Given the description of an element on the screen output the (x, y) to click on. 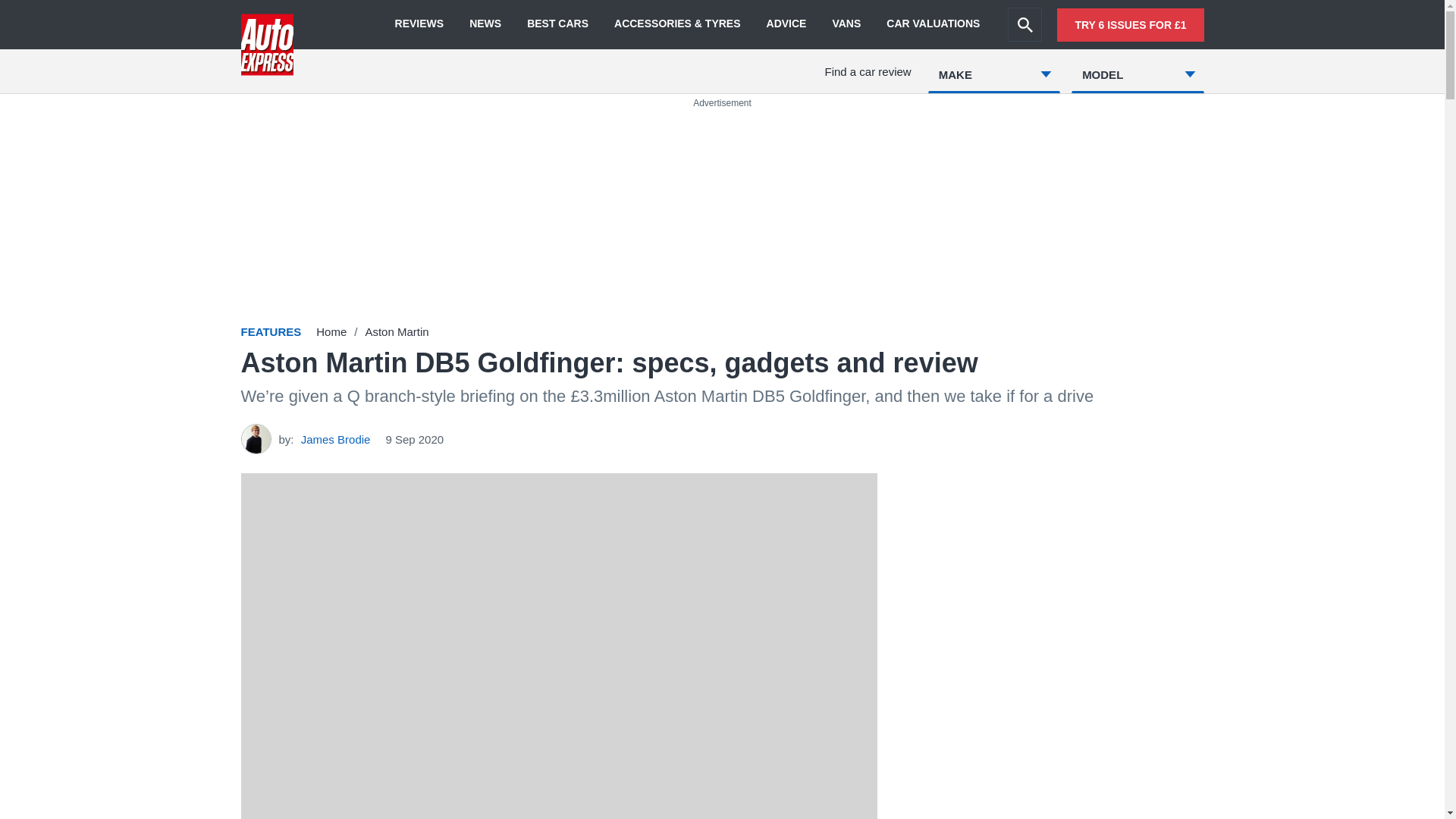
REVIEWS (419, 24)
Search (1024, 24)
NEWS (485, 24)
Aston Martin (396, 331)
BEST CARS (557, 24)
Search (1024, 24)
ADVICE (786, 24)
CAR VALUATIONS (932, 24)
VANS (845, 24)
James Brodie (336, 438)
